Given the description of an element on the screen output the (x, y) to click on. 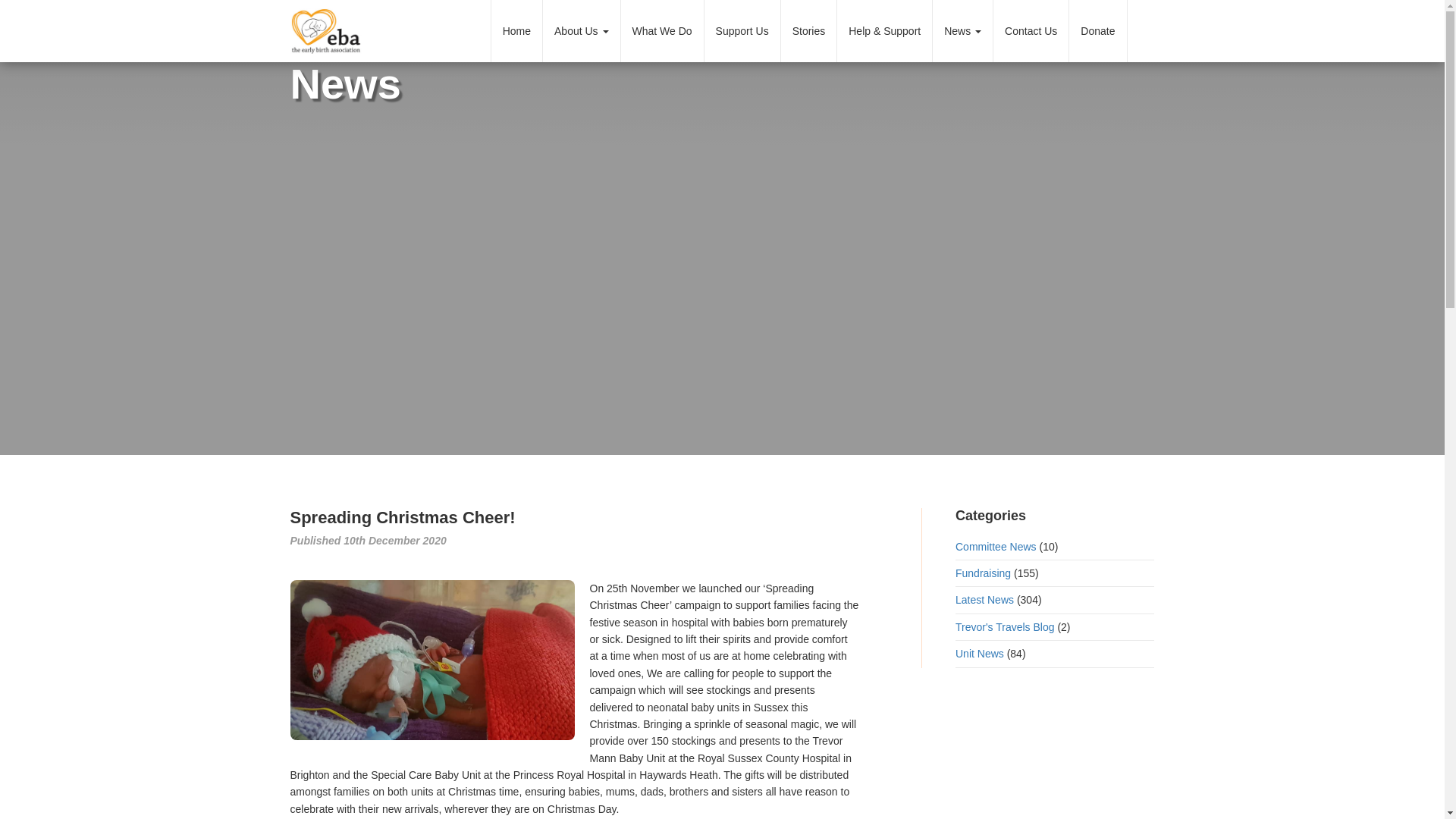
Latest News (984, 599)
News (962, 31)
Support Us (742, 31)
Contact Us (1030, 31)
Contact Us (1030, 31)
What We Do (661, 31)
About Us (581, 31)
Fundraising (982, 573)
About Us (581, 31)
Committee News (995, 546)
